Given the description of an element on the screen output the (x, y) to click on. 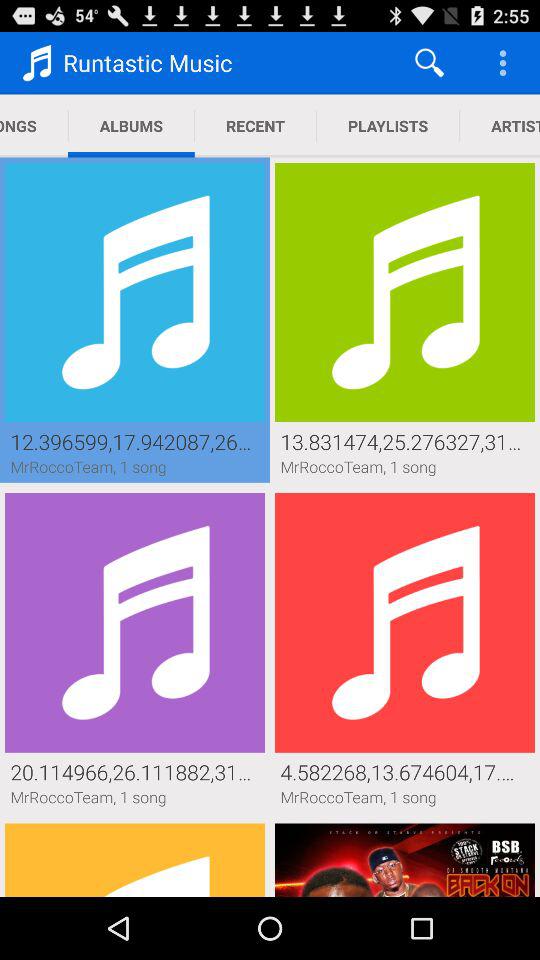
click the item next to artists item (387, 125)
